Given the description of an element on the screen output the (x, y) to click on. 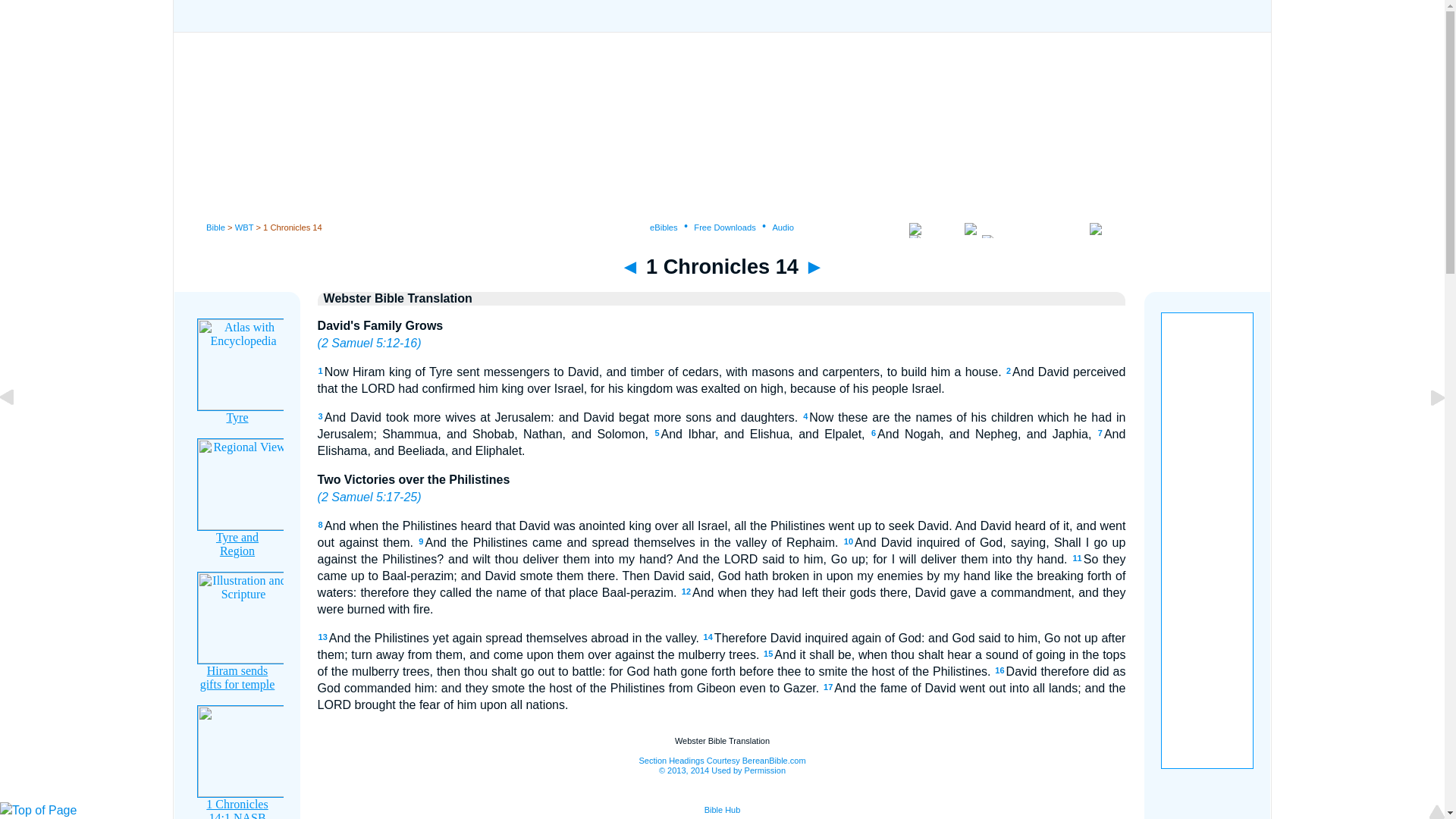
16 (999, 669)
Bible Hub (722, 809)
4 (805, 415)
10 (848, 541)
5 (656, 432)
Bible (215, 226)
3 (320, 415)
9 (421, 541)
Top of Page (38, 809)
17 (828, 686)
6 (873, 432)
8 (320, 524)
1 Chronicles 13 (630, 266)
2 Samuel 5:12-16 (368, 342)
15 (767, 653)
